Given the description of an element on the screen output the (x, y) to click on. 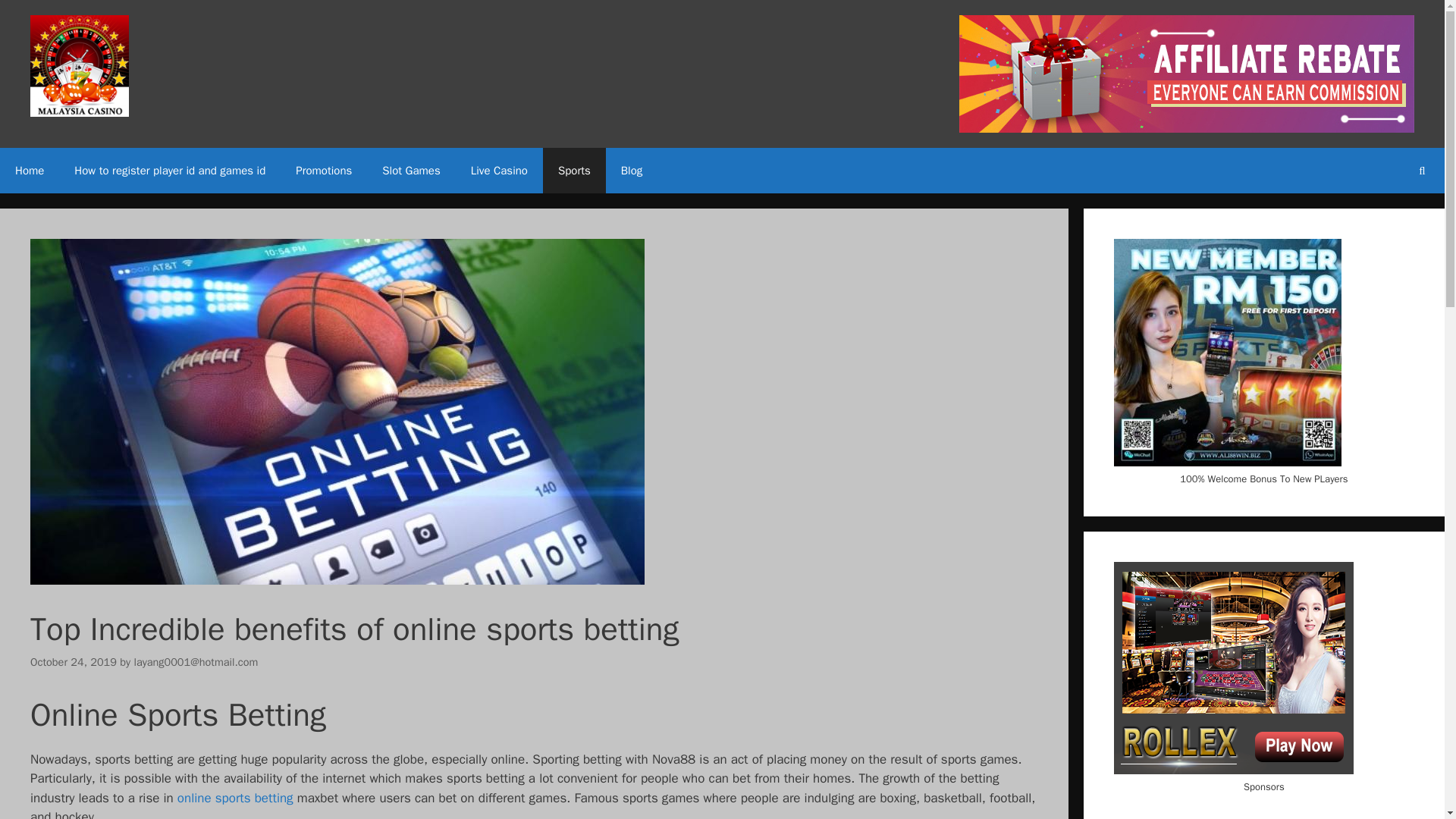
Live Casino (499, 170)
Slot Games (410, 170)
Sports (574, 170)
Home (29, 170)
Promotions (323, 170)
Malaysia-Casino.Com (79, 66)
Blog (631, 170)
How to register player id and games id (170, 170)
online sports betting (235, 797)
Malaysia-Casino.Com (79, 65)
